Given the description of an element on the screen output the (x, y) to click on. 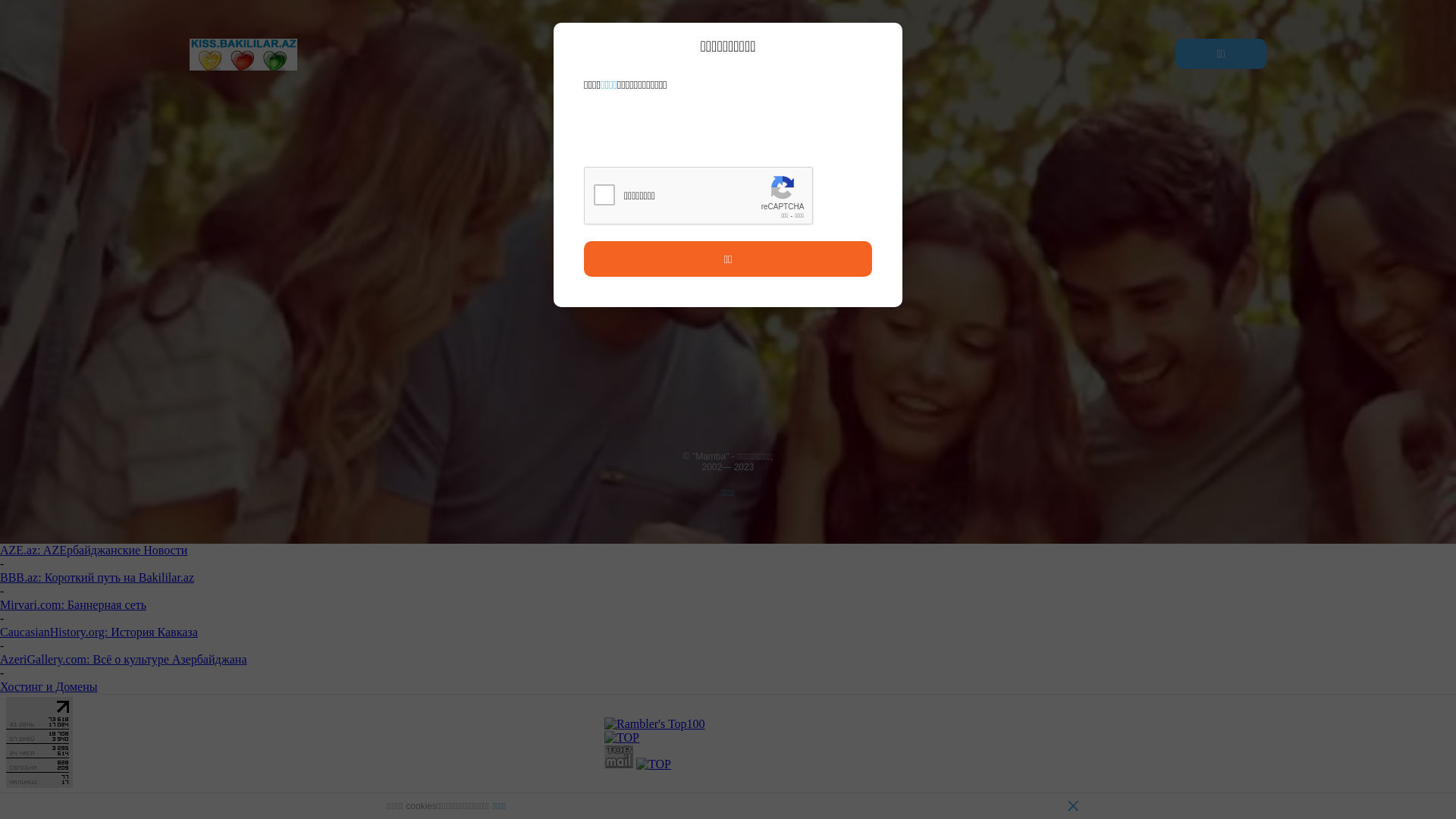
reCAPTCHA Element type: hover (698, 195)
